Given the description of an element on the screen output the (x, y) to click on. 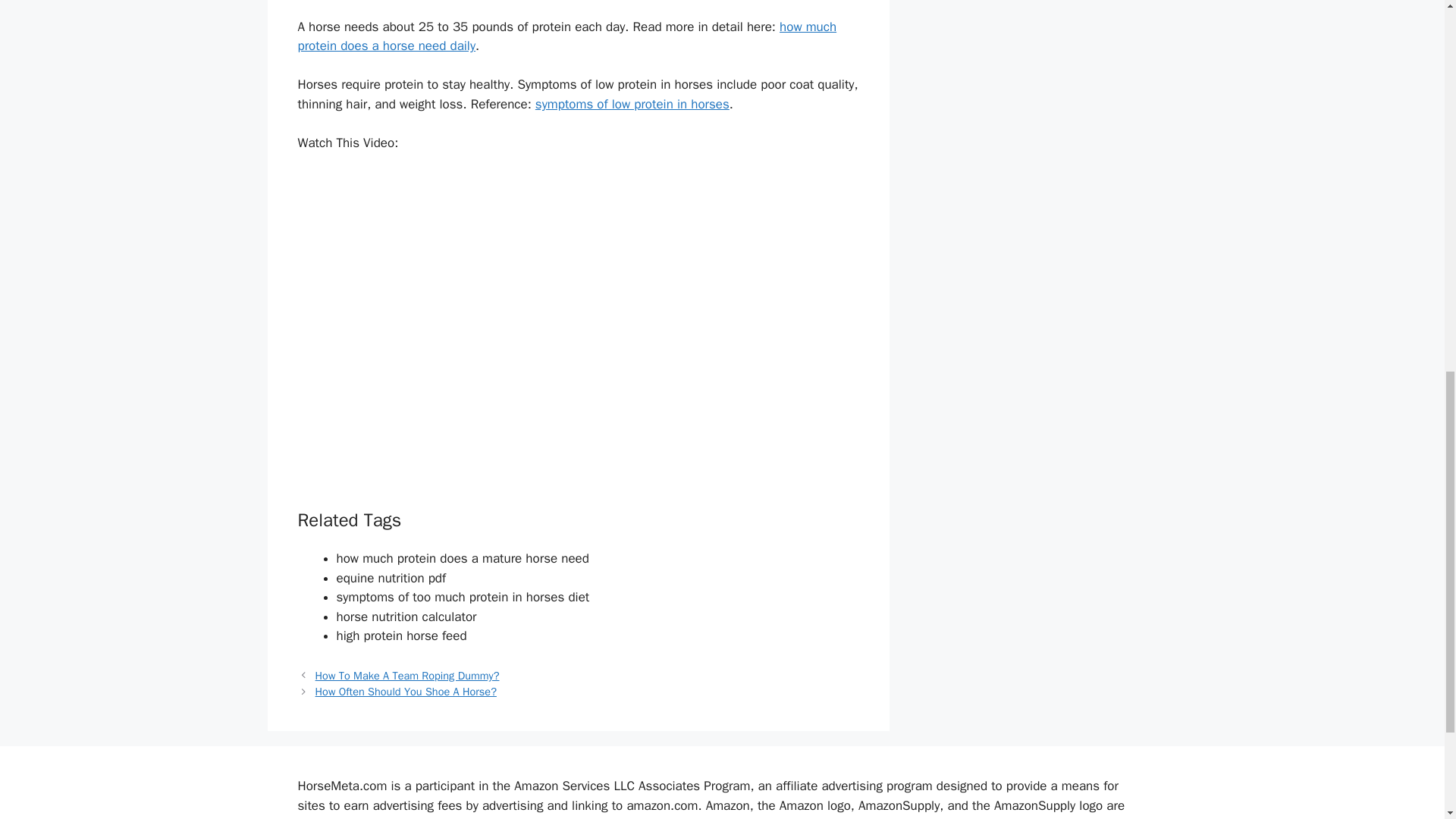
How Often Should You Shoe A Horse? (405, 691)
How To Make A Team Roping Dummy? (407, 675)
how much protein does a horse need daily (566, 36)
symptoms of low protein in horses (632, 104)
